Given the description of an element on the screen output the (x, y) to click on. 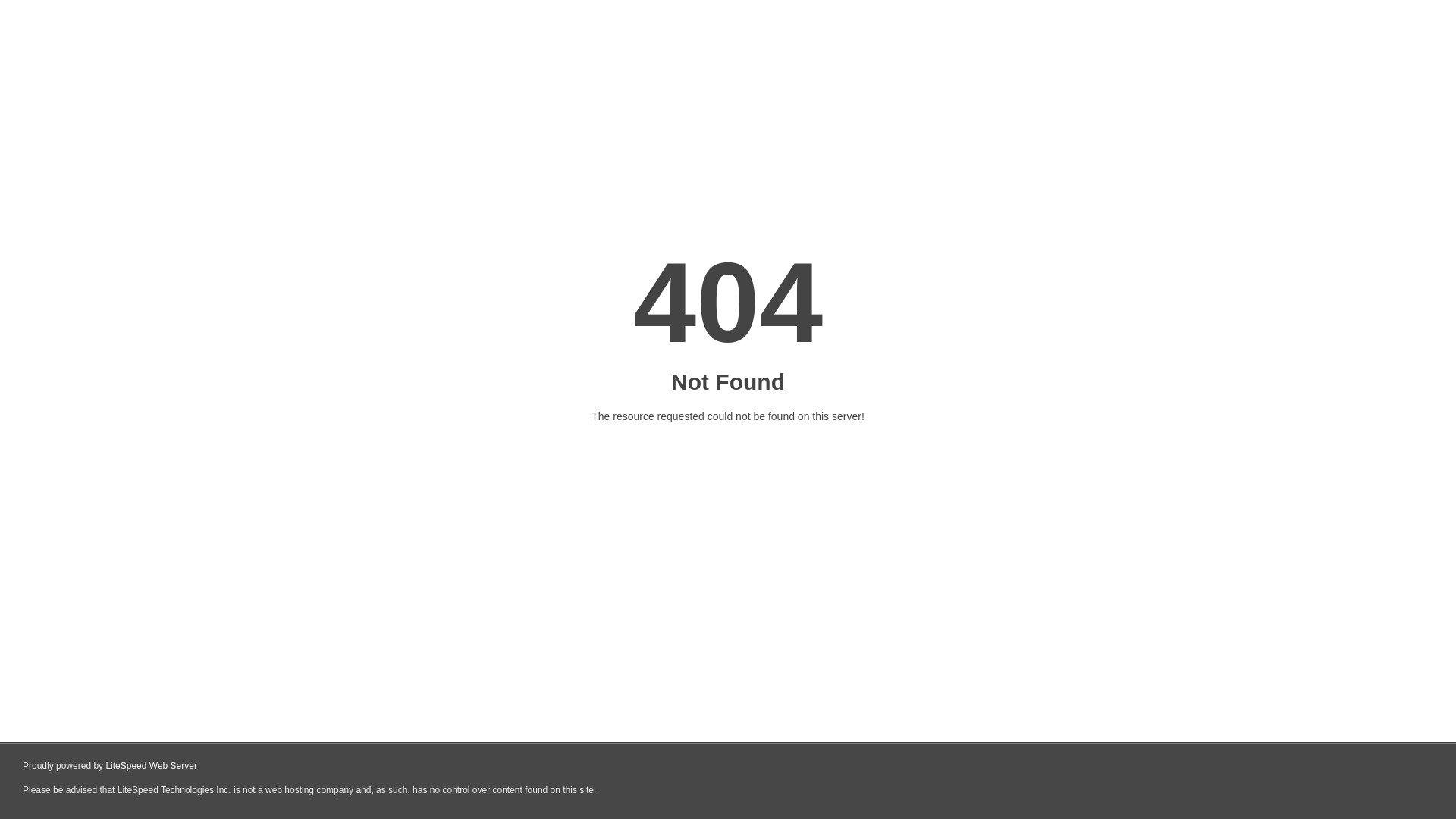
LiteSpeed Web Server Element type: text (151, 765)
